Given the description of an element on the screen output the (x, y) to click on. 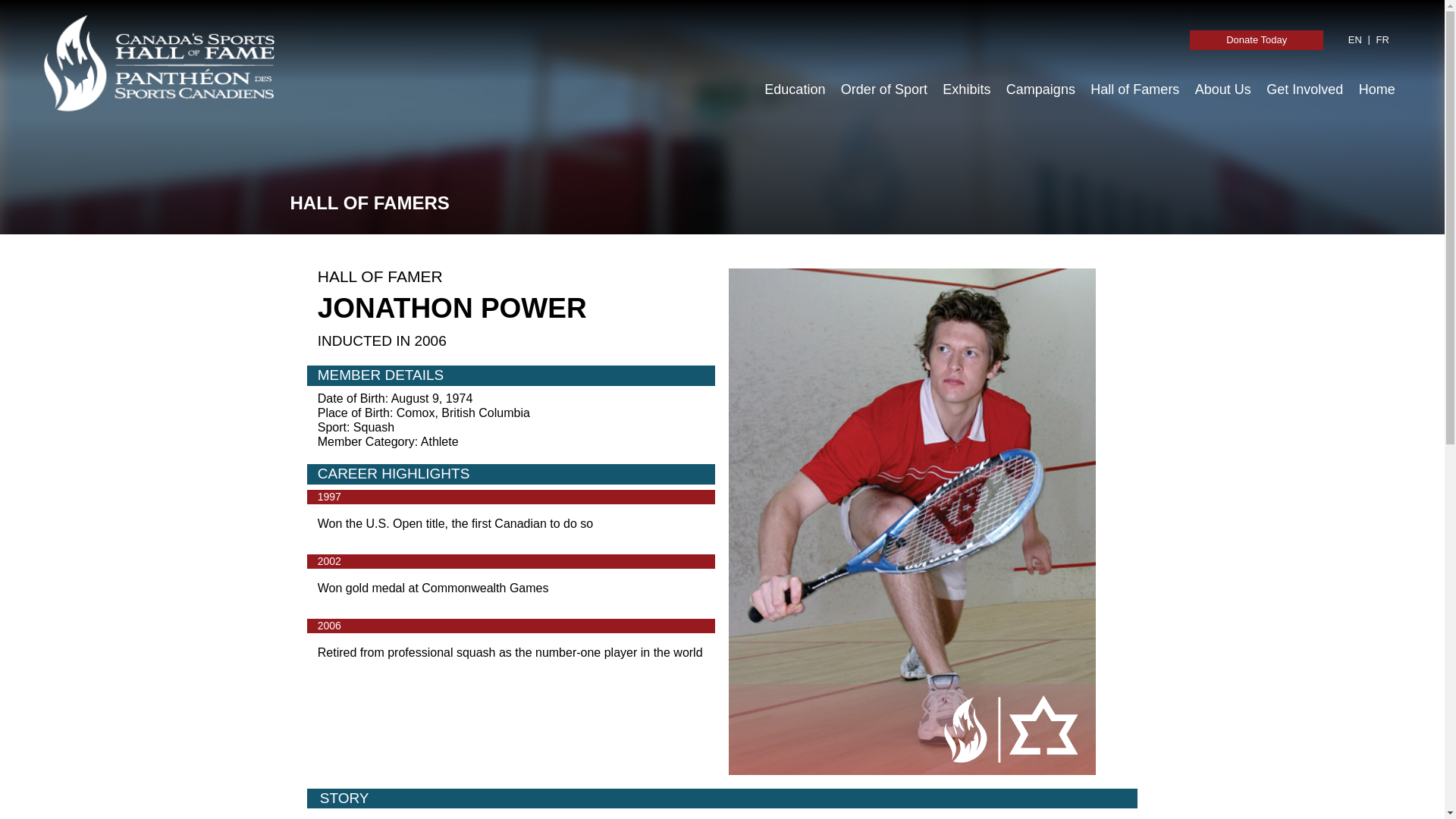
Campaigns (1040, 89)
Get Involved (1304, 89)
FR (1382, 39)
EN (1355, 39)
Donate Today (1256, 39)
Home (1376, 89)
Education (794, 89)
Order of Sport (883, 89)
Hall of Famers (1134, 89)
About Us (1223, 89)
